Given the description of an element on the screen output the (x, y) to click on. 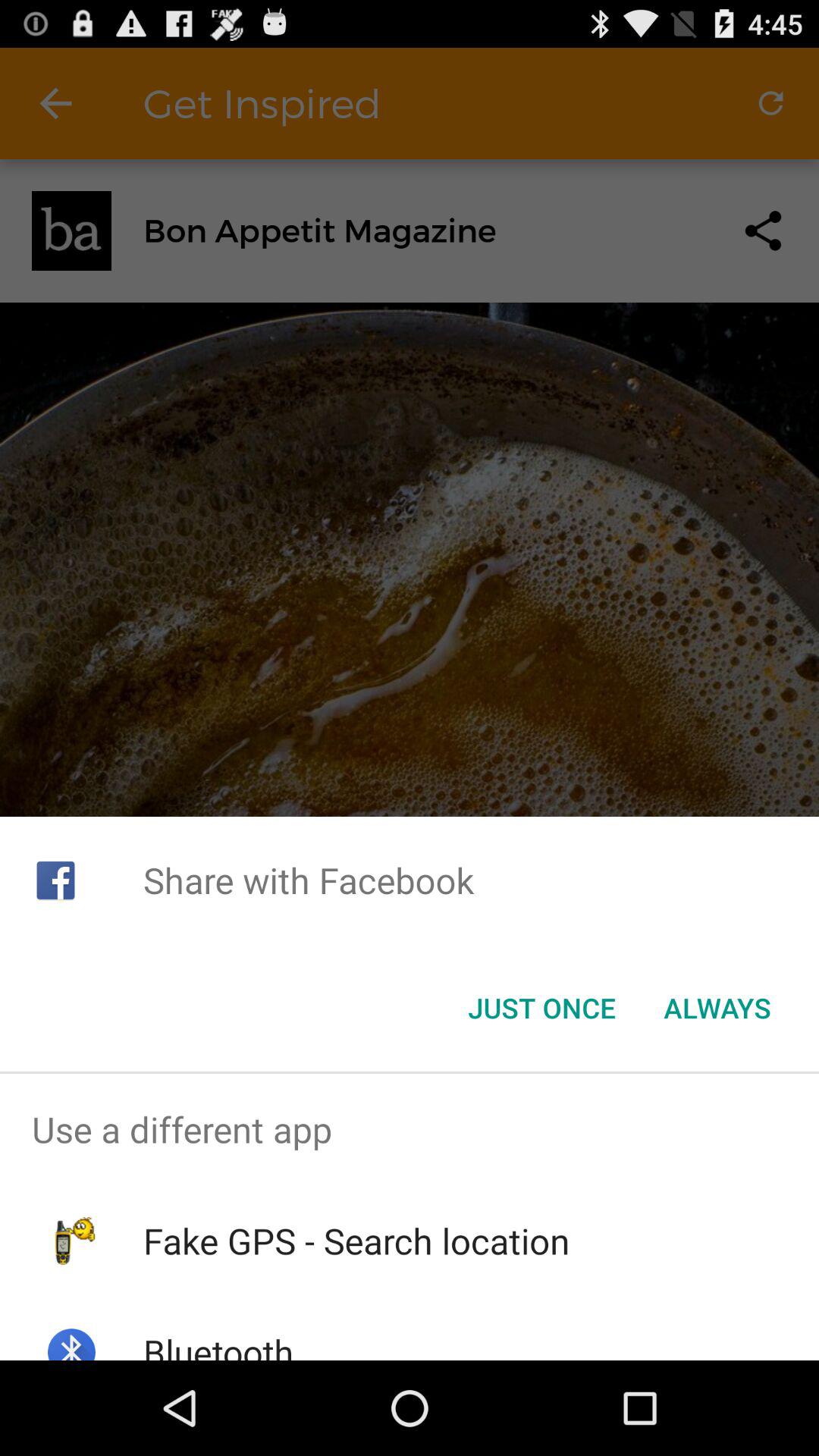
choose the just once button (541, 1007)
